Given the description of an element on the screen output the (x, y) to click on. 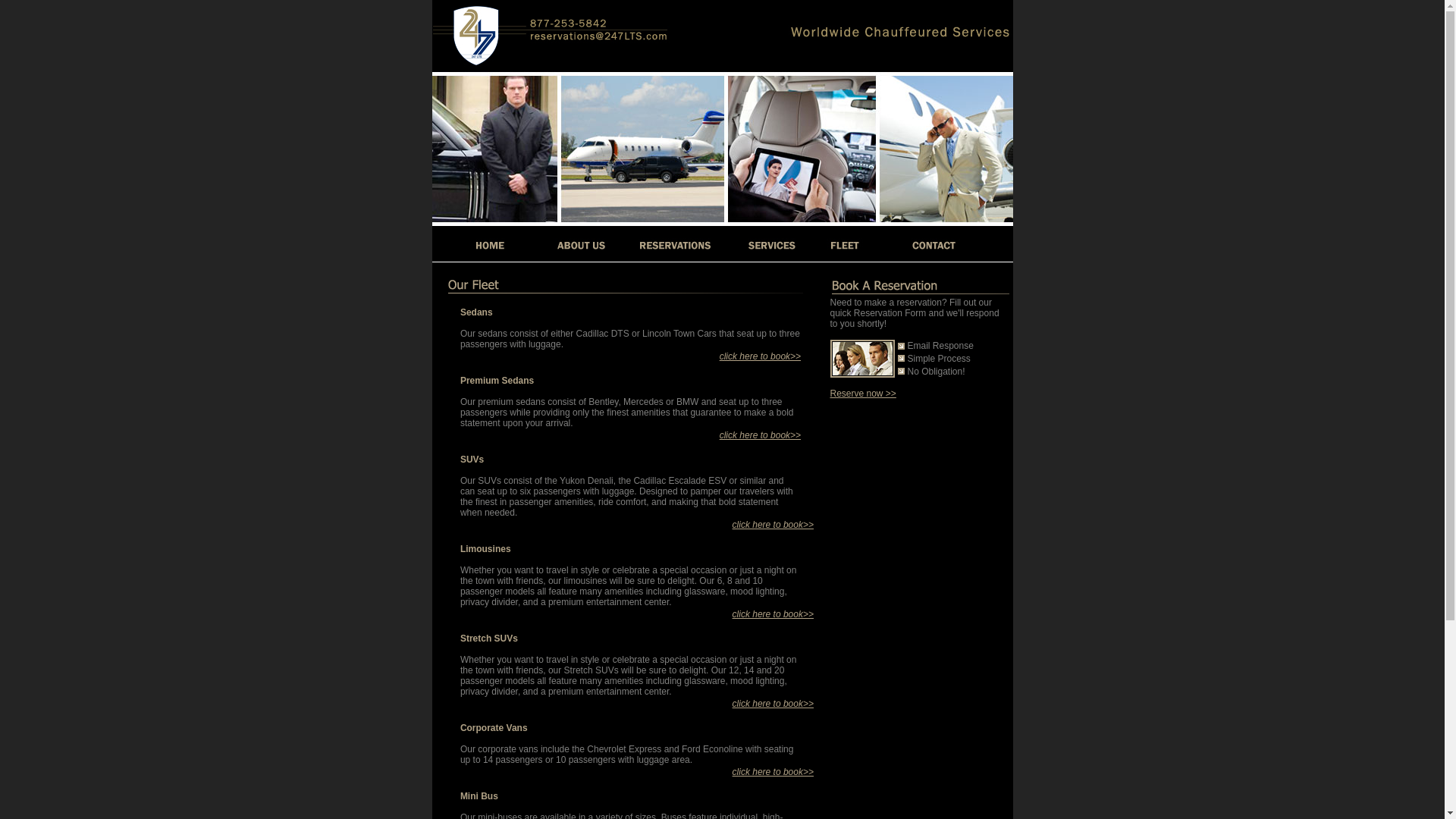
click here to book>> Element type: text (772, 771)
click here to book>> Element type: text (772, 524)
Reserve now >> Element type: text (862, 393)
click here to book>> Element type: text (759, 434)
click here to book>> Element type: text (772, 703)
click here to book>> Element type: text (759, 356)
click here to book>> Element type: text (772, 613)
